Given the description of an element on the screen output the (x, y) to click on. 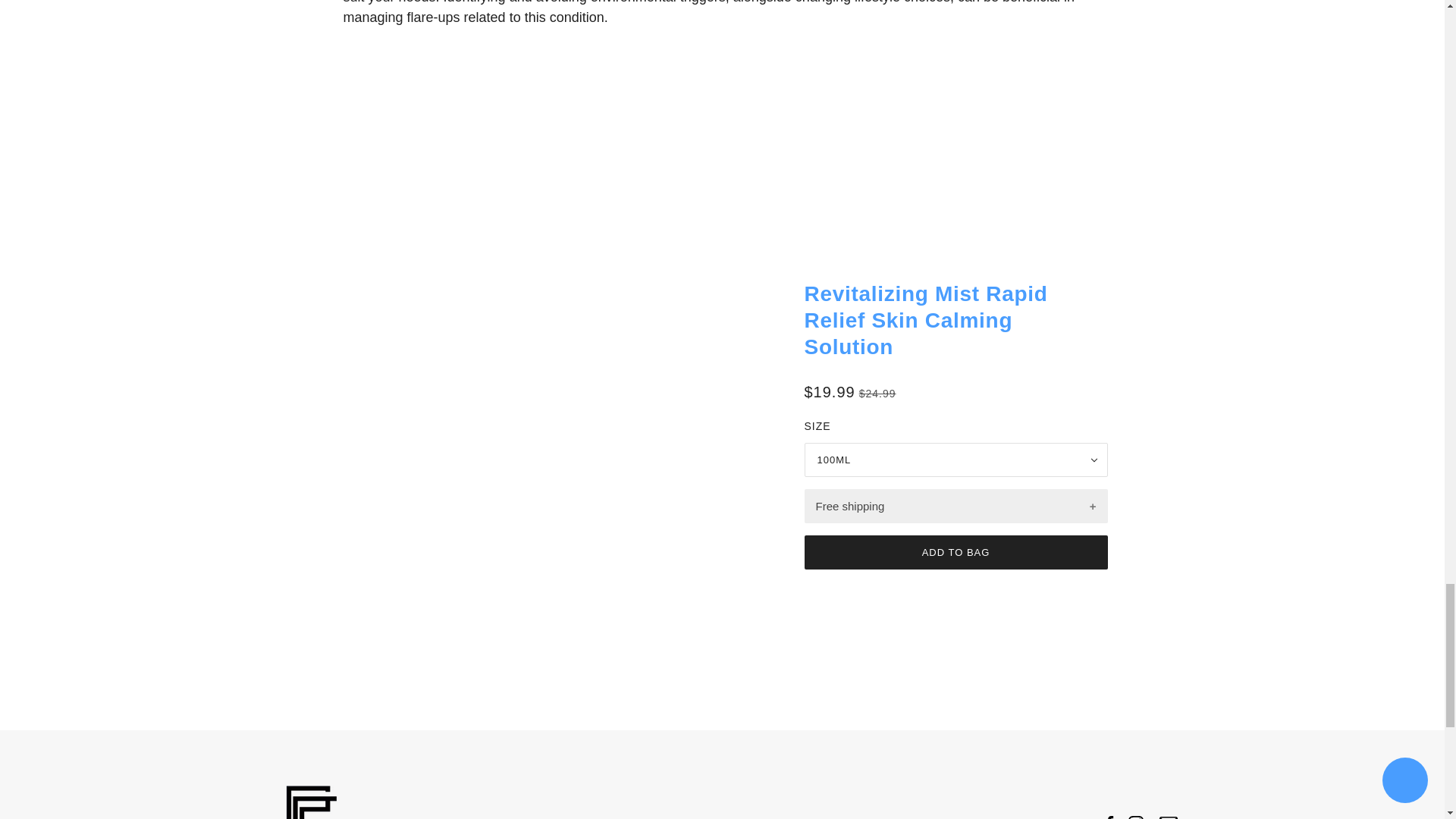
Revitalizing Mist Rapid Relief Skin Calming Solution (924, 319)
ADD TO BAG (954, 552)
Free shipping (954, 505)
